Given the description of an element on the screen output the (x, y) to click on. 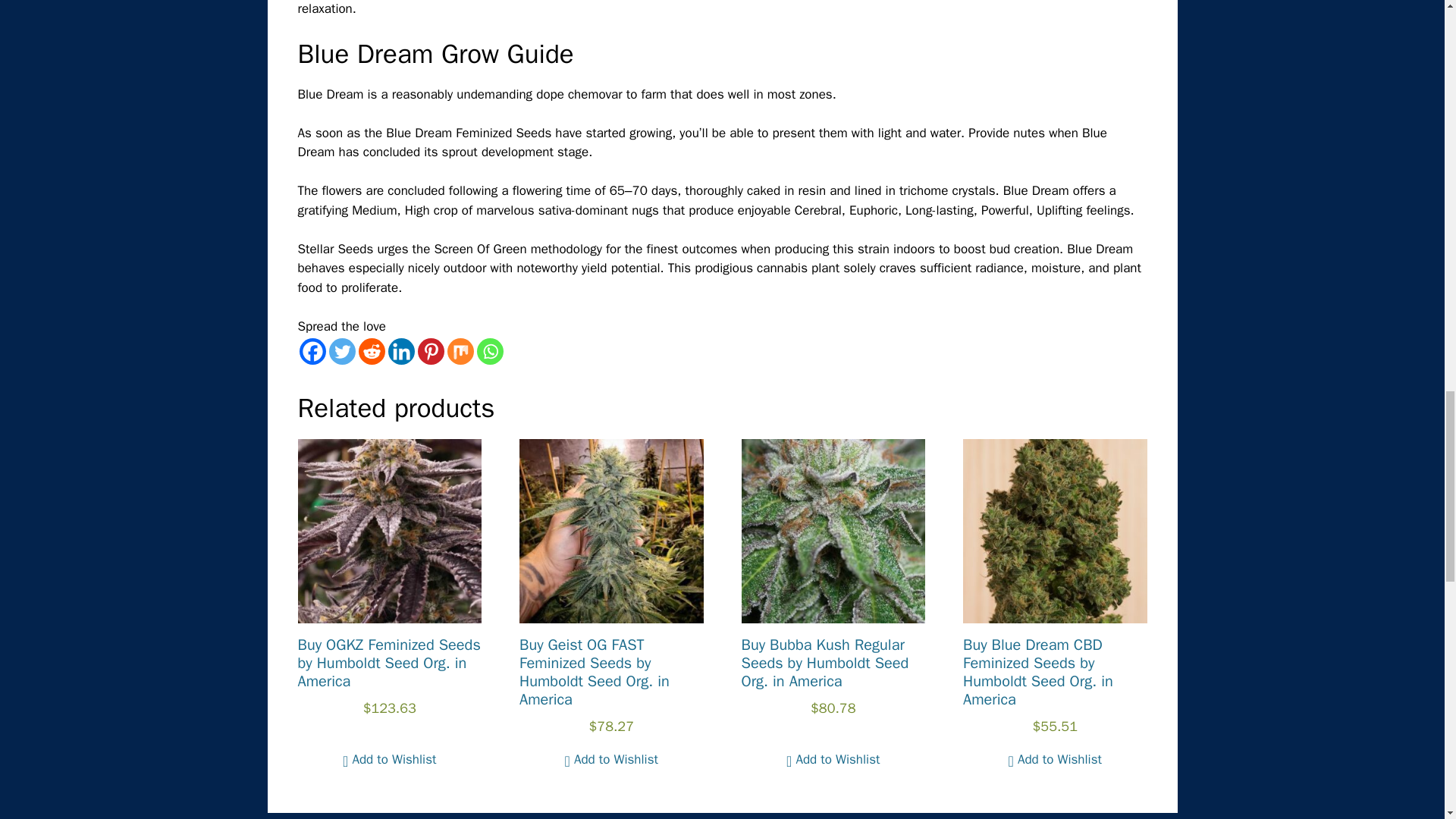
Pinterest (430, 351)
Reddit (371, 351)
Whatsapp (489, 351)
Facebook (311, 351)
Mix (460, 351)
Twitter (342, 351)
Linkedin (401, 351)
